Given the description of an element on the screen output the (x, y) to click on. 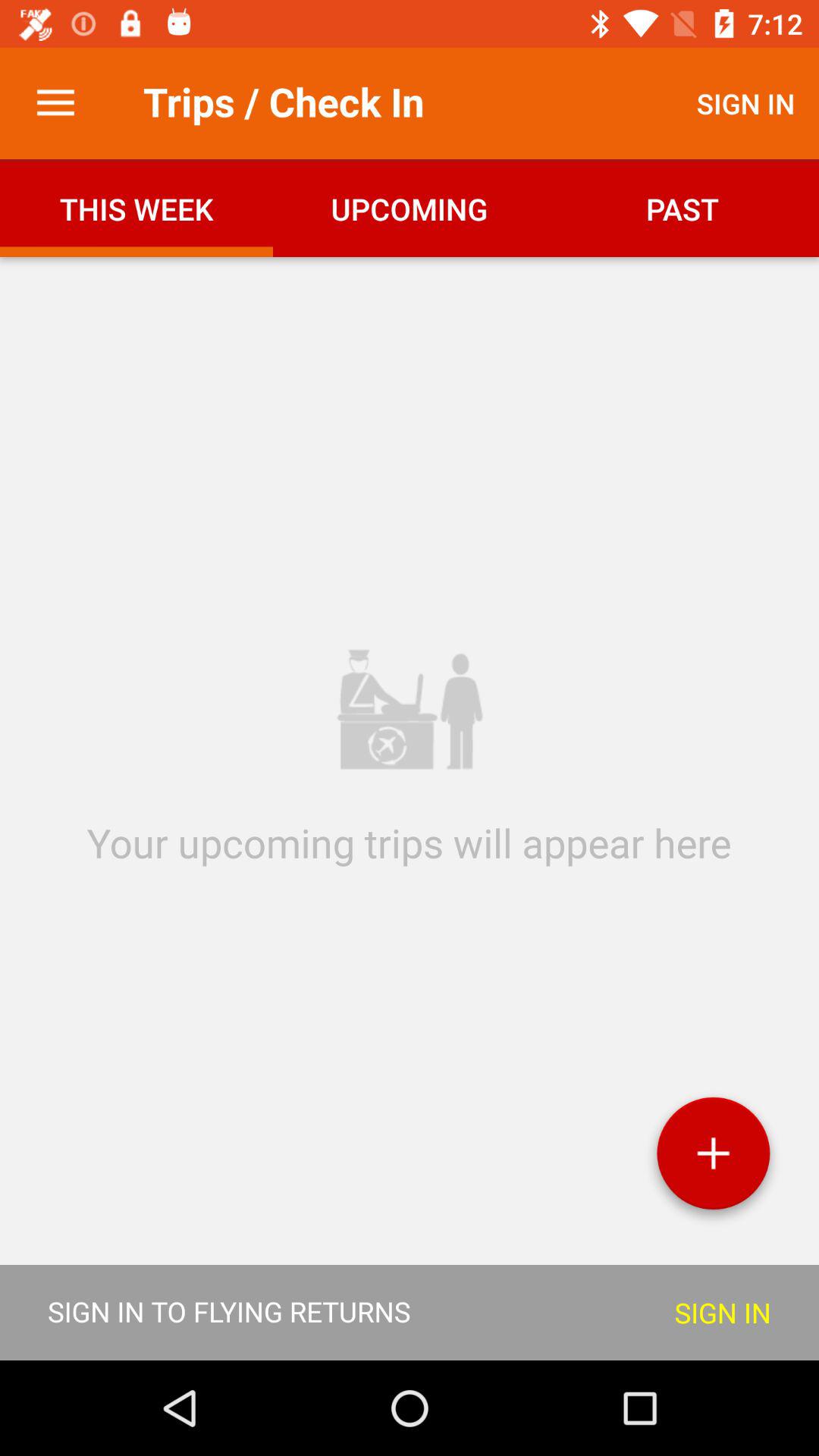
turn off the item above sign in item (713, 1159)
